Given the description of an element on the screen output the (x, y) to click on. 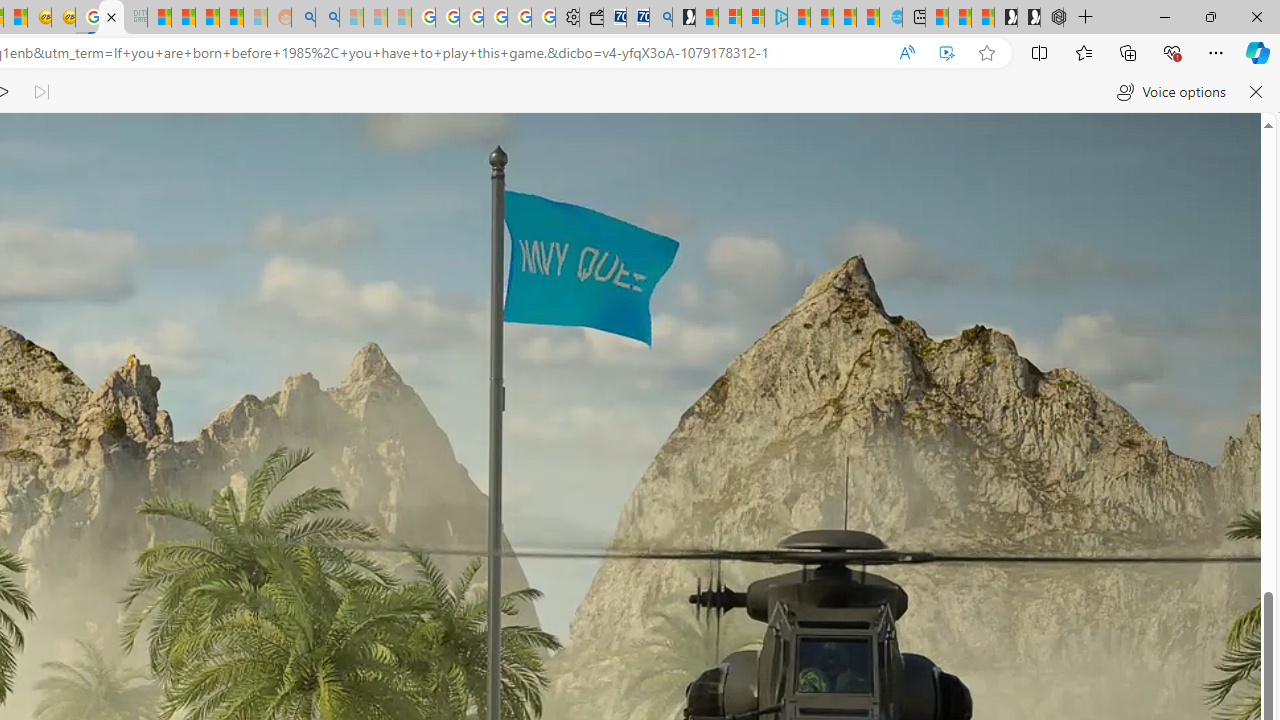
Cheap Car Rentals - Save70.com (637, 17)
Utah sues federal government - Search (327, 17)
Voice options (1170, 92)
Read next paragraph (40, 92)
